Given the description of an element on the screen output the (x, y) to click on. 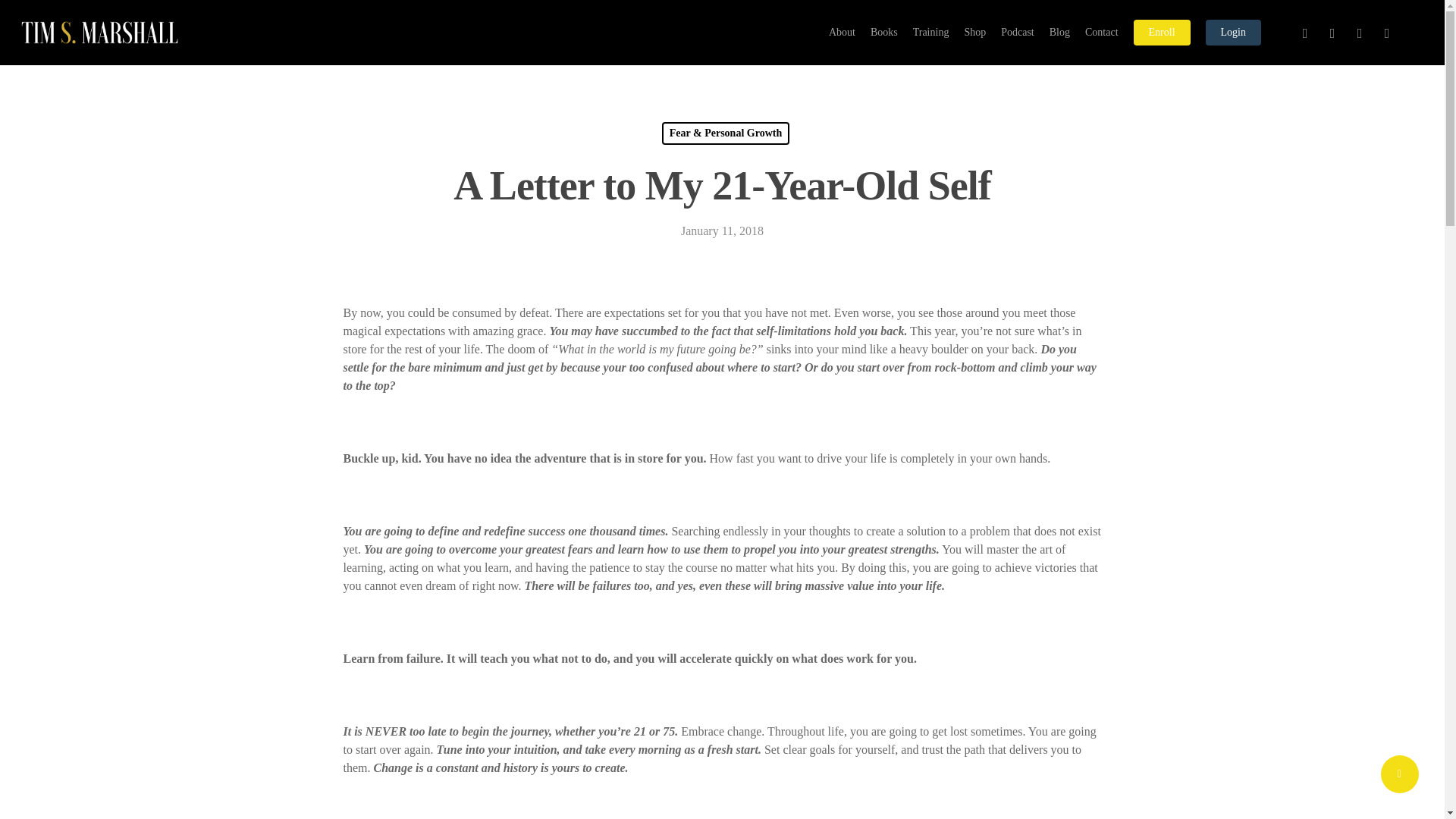
About (842, 32)
Shop (974, 32)
Blog (1059, 32)
Books (884, 32)
Podcast (1017, 32)
Contact (1101, 32)
Enroll (1162, 32)
Login (1232, 32)
Training (930, 32)
